Given the description of an element on the screen output the (x, y) to click on. 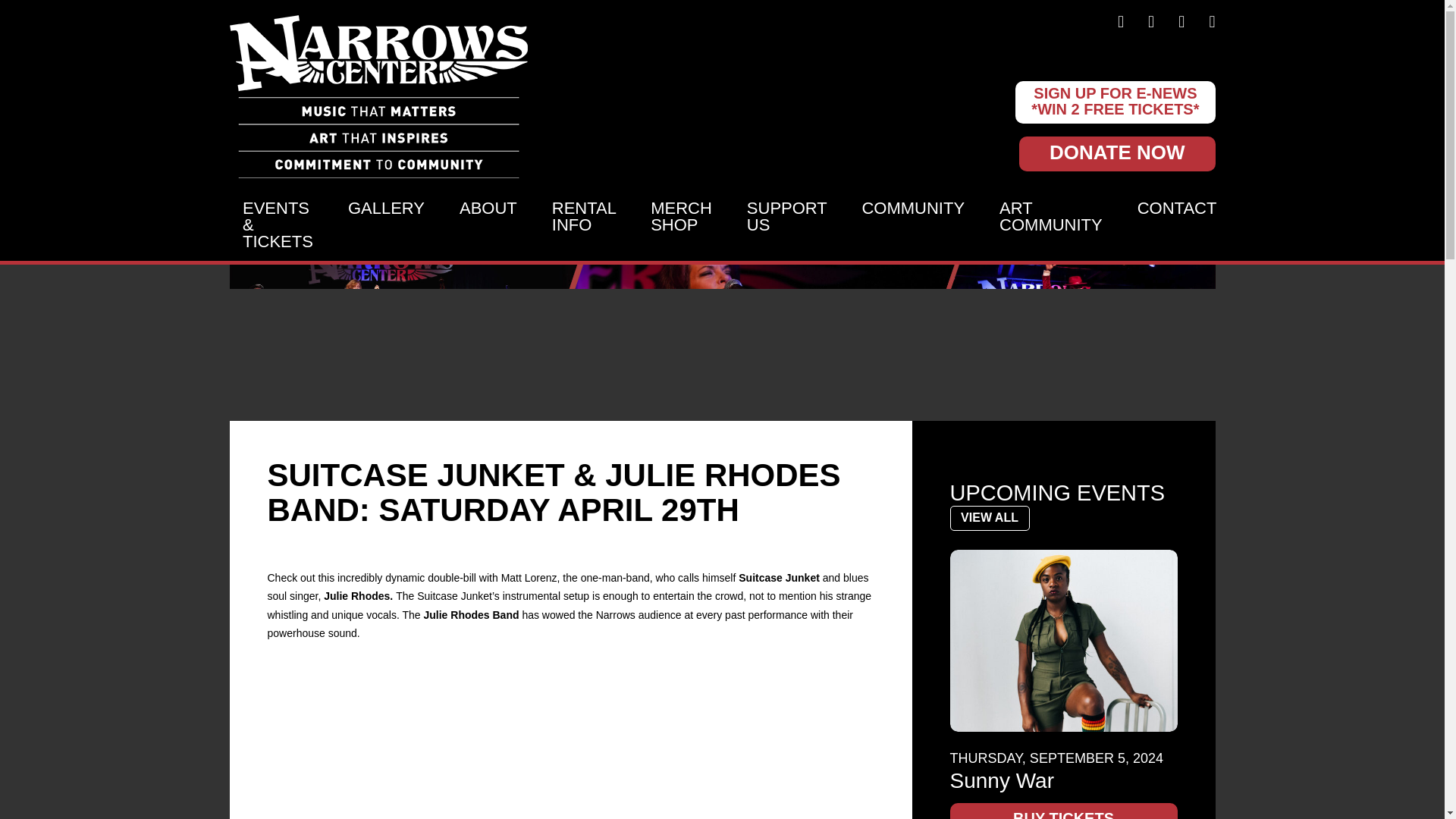
DONATE NOW (1117, 153)
ABOUT (488, 226)
GALLERY (386, 226)
MERCH SHOP (681, 226)
Never Leave, Let Me Be (569, 741)
RENTAL INFO (583, 226)
